Given the description of an element on the screen output the (x, y) to click on. 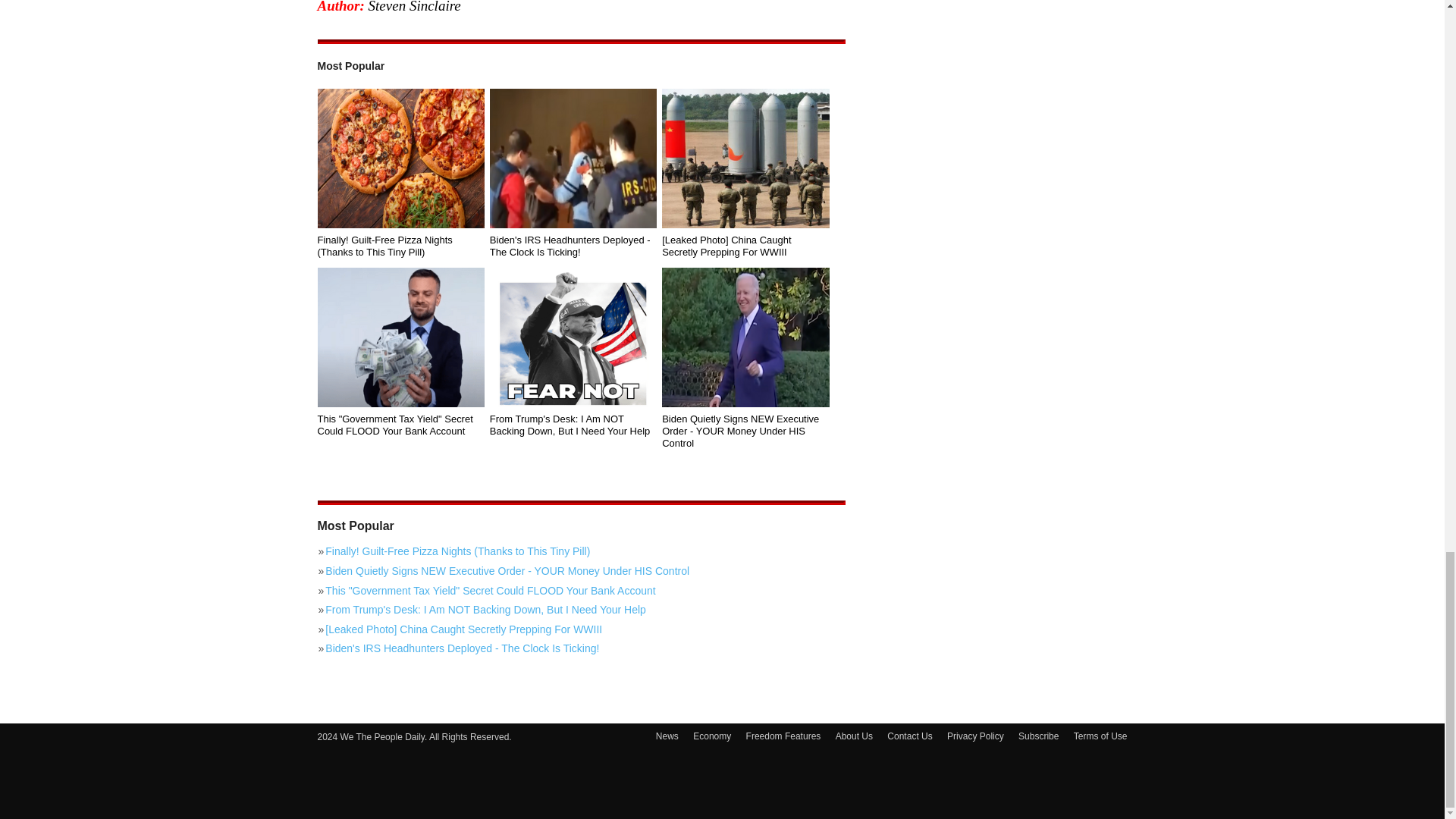
Biden's IRS Headhunters Deployed - The Clock Is Ticking! (580, 650)
Biden's IRS Headhunters Deployed - The Clock Is Ticking! (572, 246)
This  (400, 337)
Biden's IRS Headhunters Deployed - The Clock Is Ticking! (572, 158)
